Given the description of an element on the screen output the (x, y) to click on. 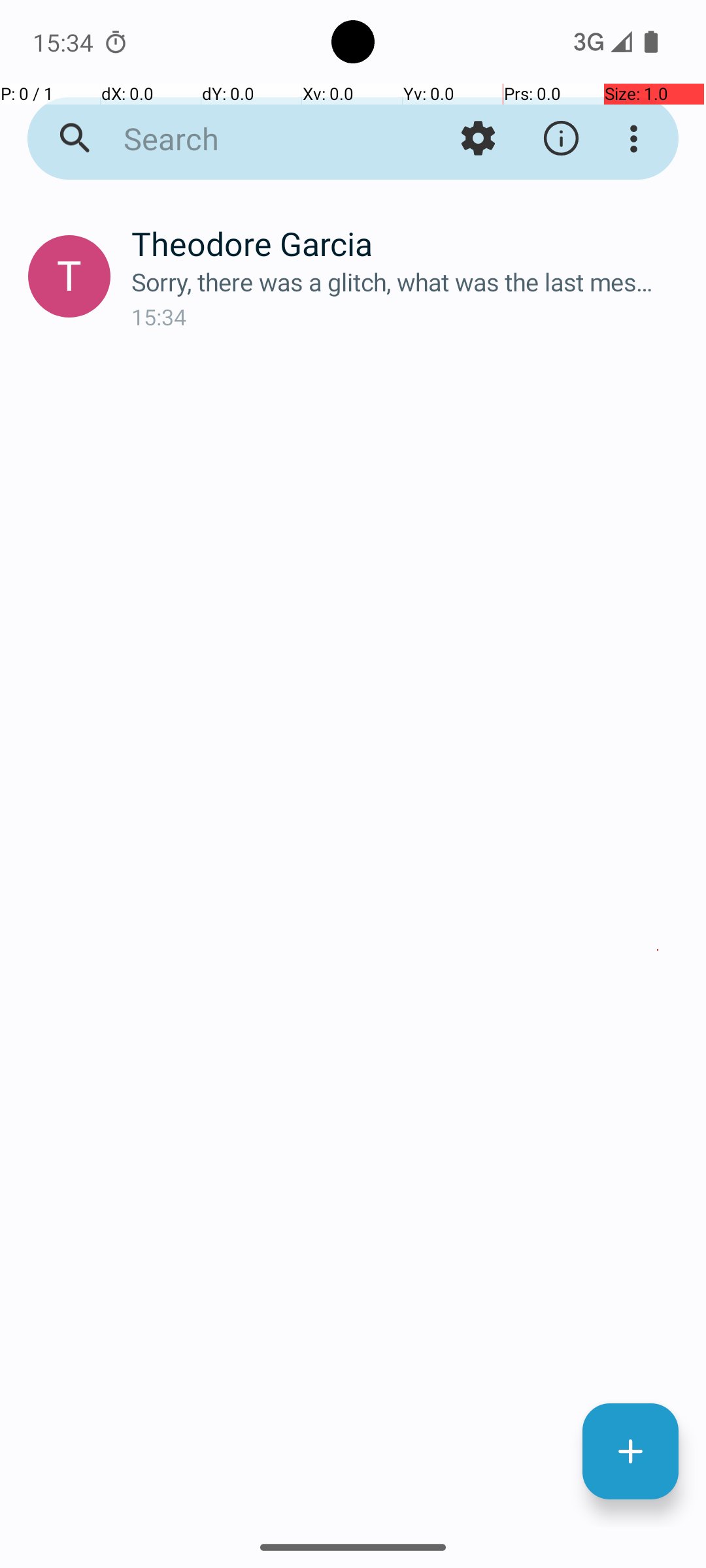
Theodore Garcia Element type: android.widget.TextView (408, 242)
